Given the description of an element on the screen output the (x, y) to click on. 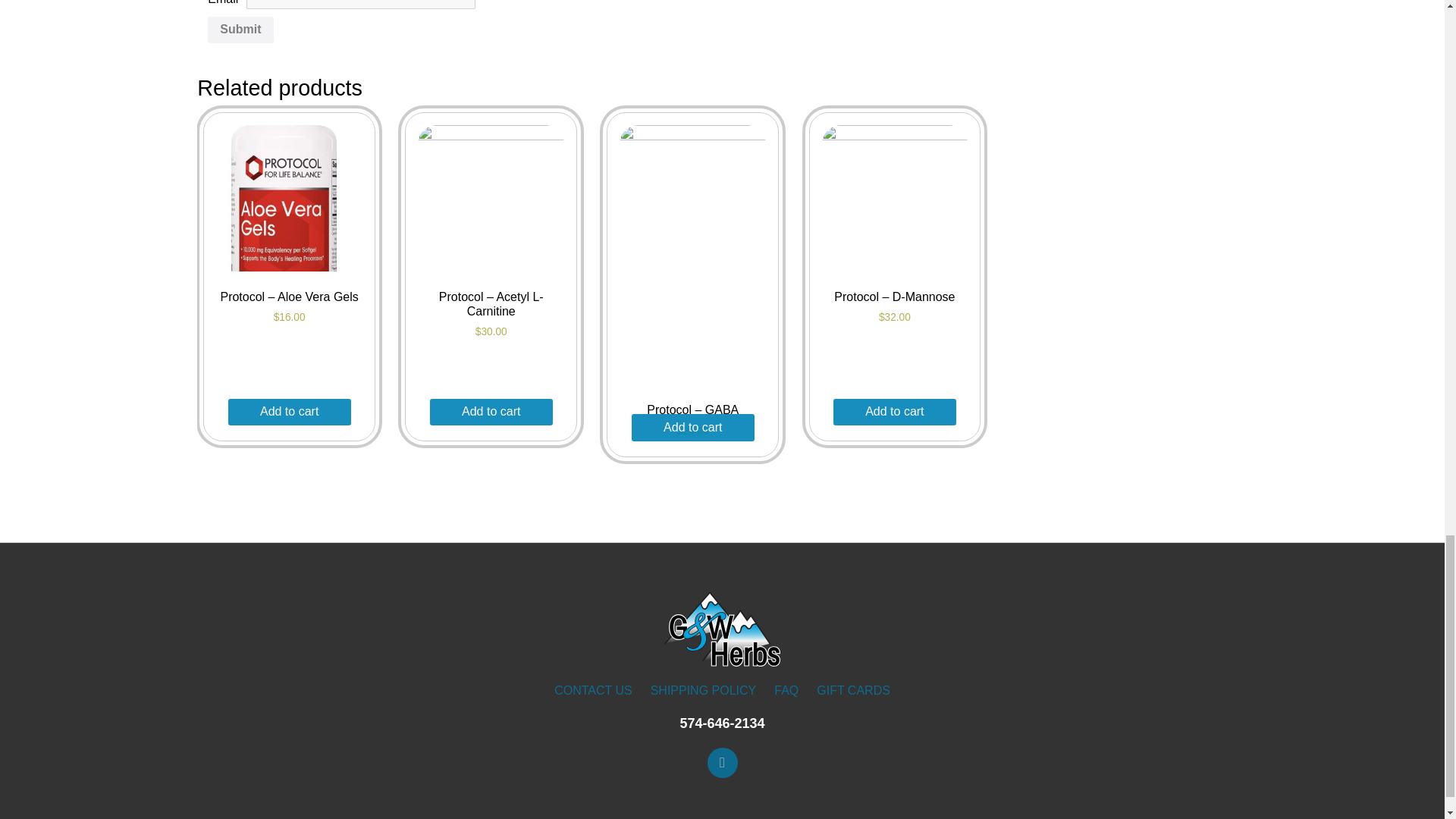
Submit (240, 30)
Add to cart (692, 427)
Add to cart (491, 411)
Submit (240, 30)
Add to cart (289, 411)
Add to cart (894, 411)
